Given the description of an element on the screen output the (x, y) to click on. 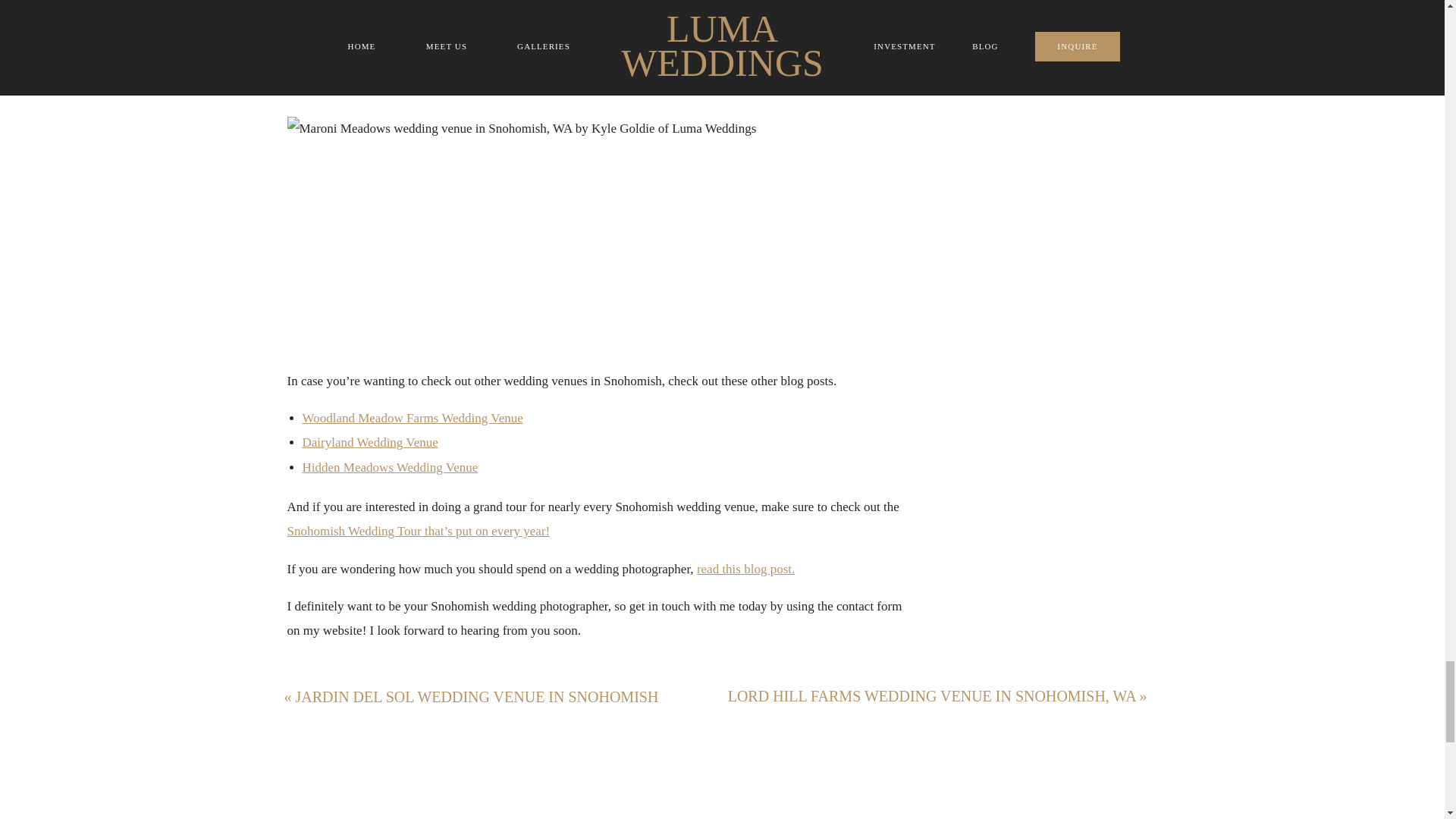
Woodland Meadow Farms Wedding Venue (411, 418)
JARDIN DEL SOL WEDDING VENUE IN SNOHOMISH (477, 696)
Hidden Meadows Wedding Venue (389, 467)
read this blog post. (745, 568)
Dairyland Wedding Venue (369, 441)
LORD HILL FARMS WEDDING VENUE IN SNOHOMISH, WA (931, 695)
